Given the description of an element on the screen output the (x, y) to click on. 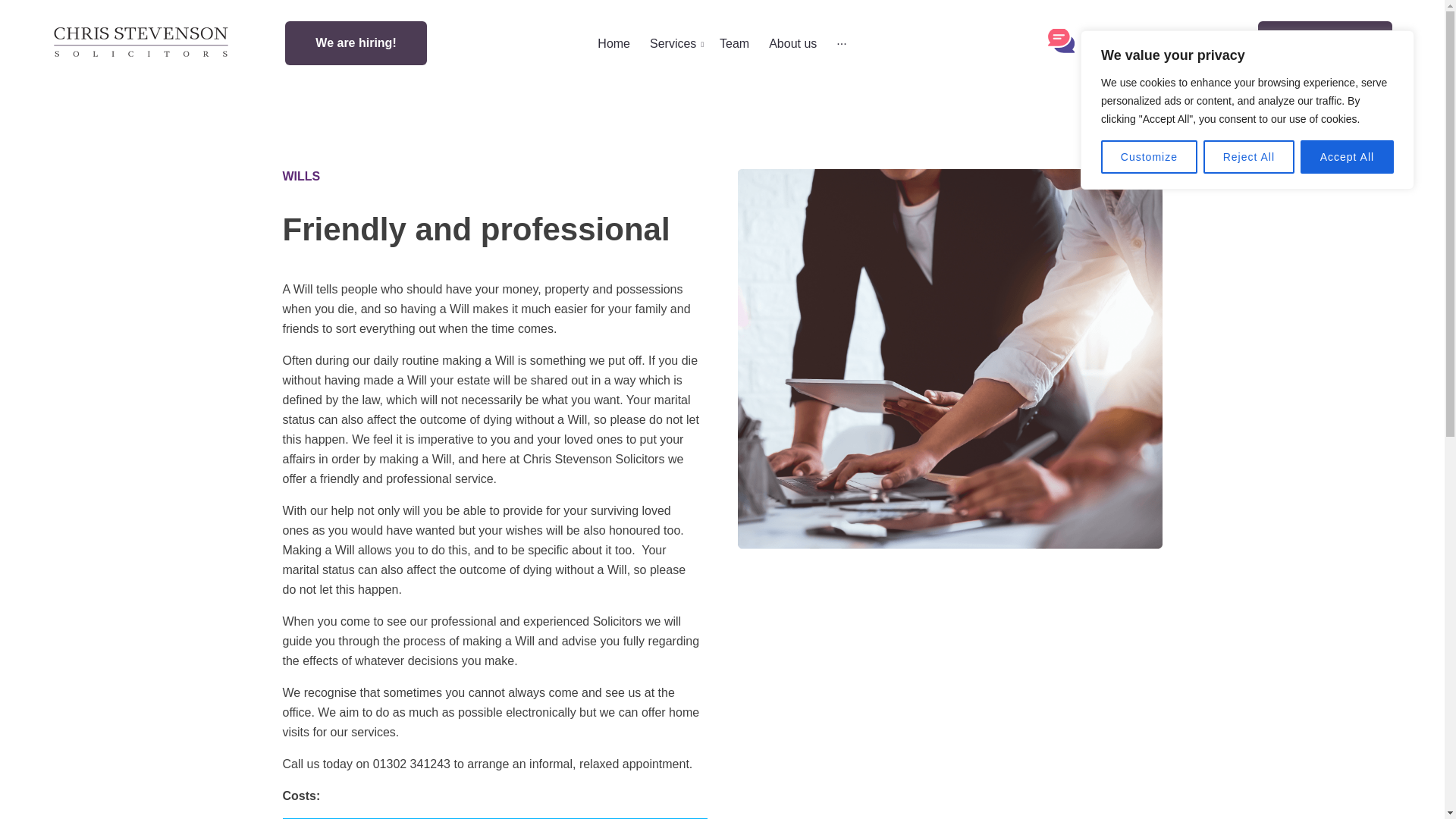
Tel: 01302 341243 (1144, 46)
Accept All (1346, 156)
Home (614, 43)
Team (734, 43)
We are hiring! (355, 43)
Reject All (1249, 156)
About us (792, 43)
Customize (1148, 156)
Services (675, 43)
Out of Hours (1325, 43)
